Given the description of an element on the screen output the (x, y) to click on. 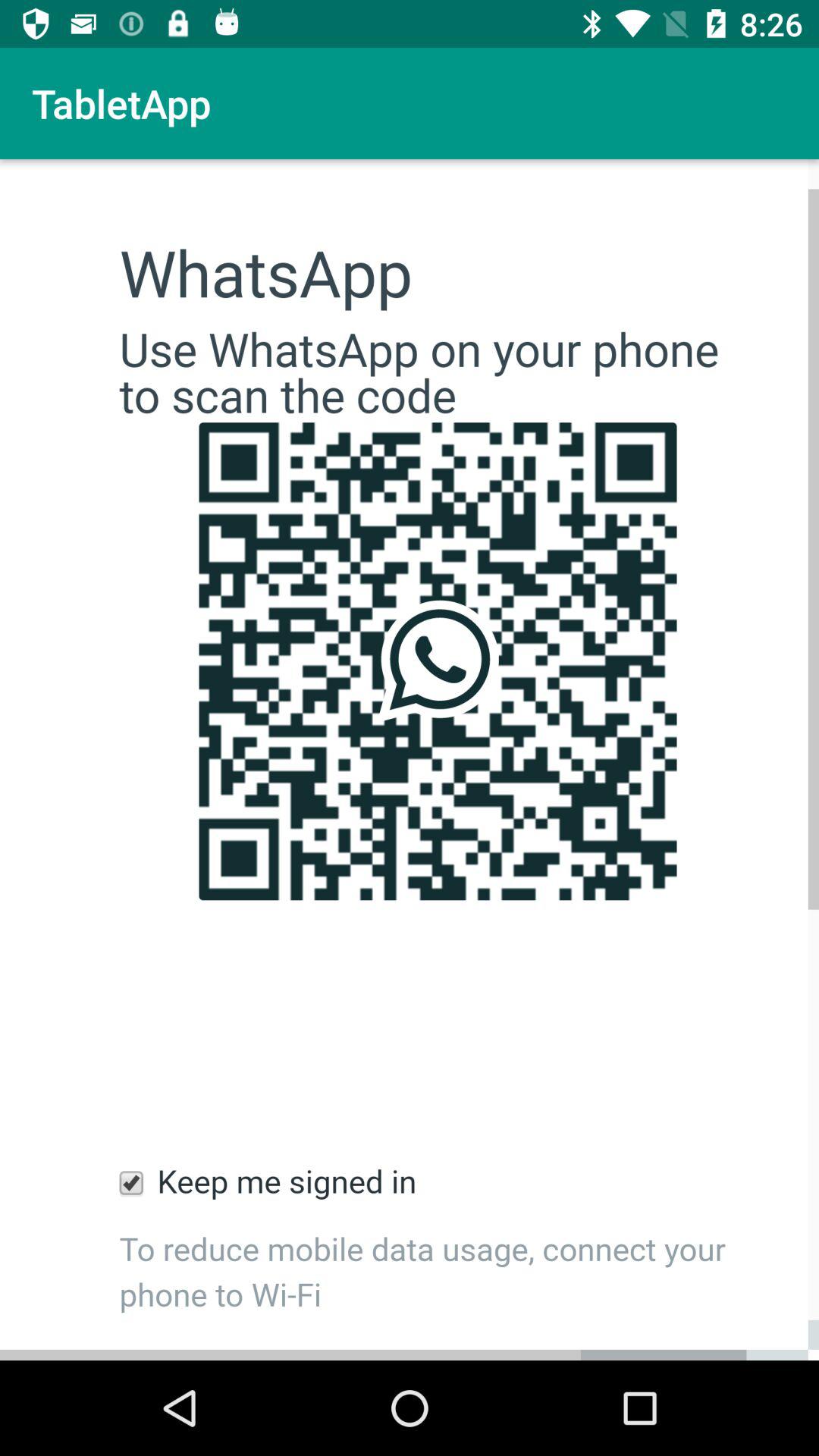
total web page (409, 759)
